Given the description of an element on the screen output the (x, y) to click on. 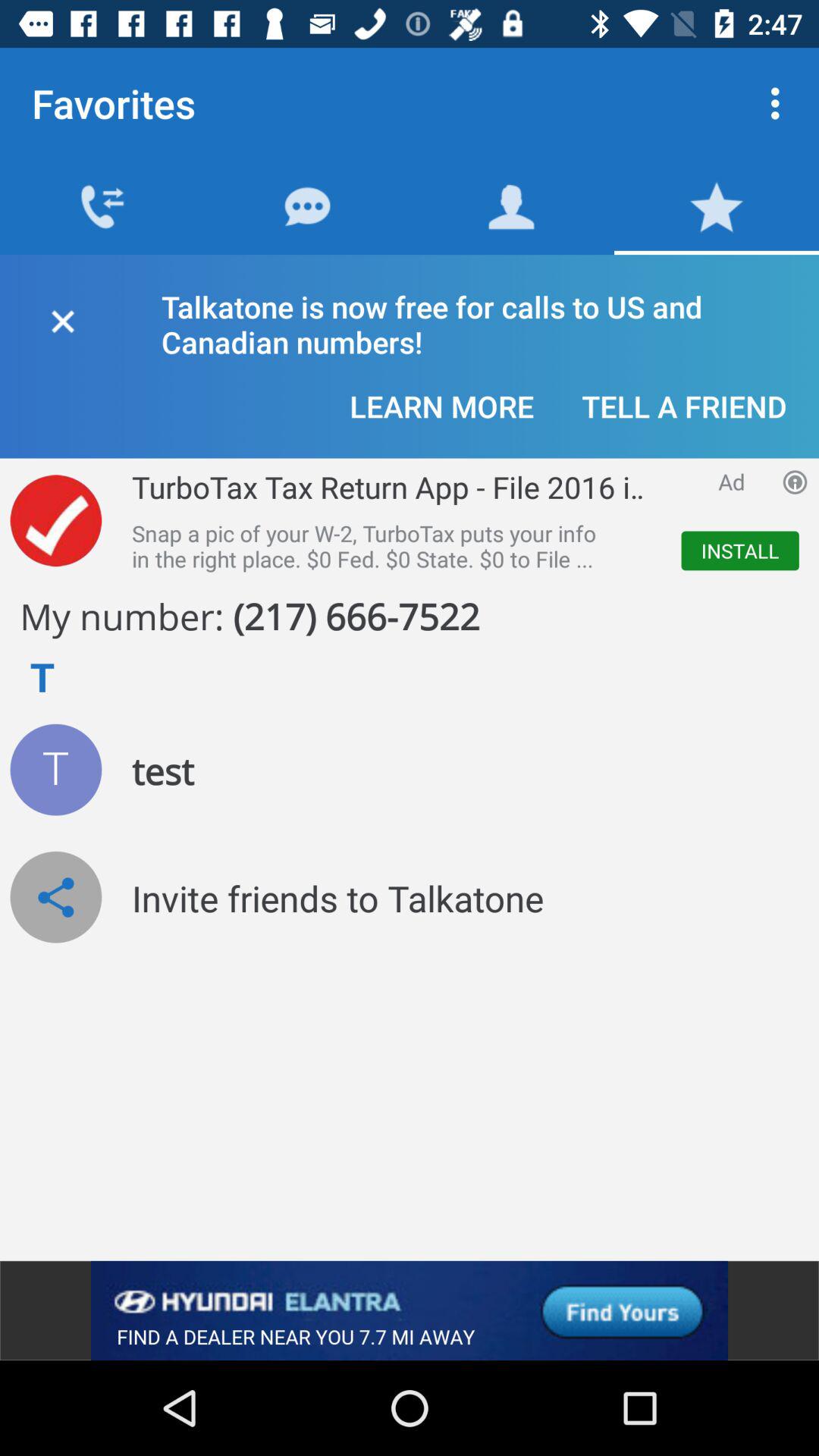
contact icon (55, 769)
